Given the description of an element on the screen output the (x, y) to click on. 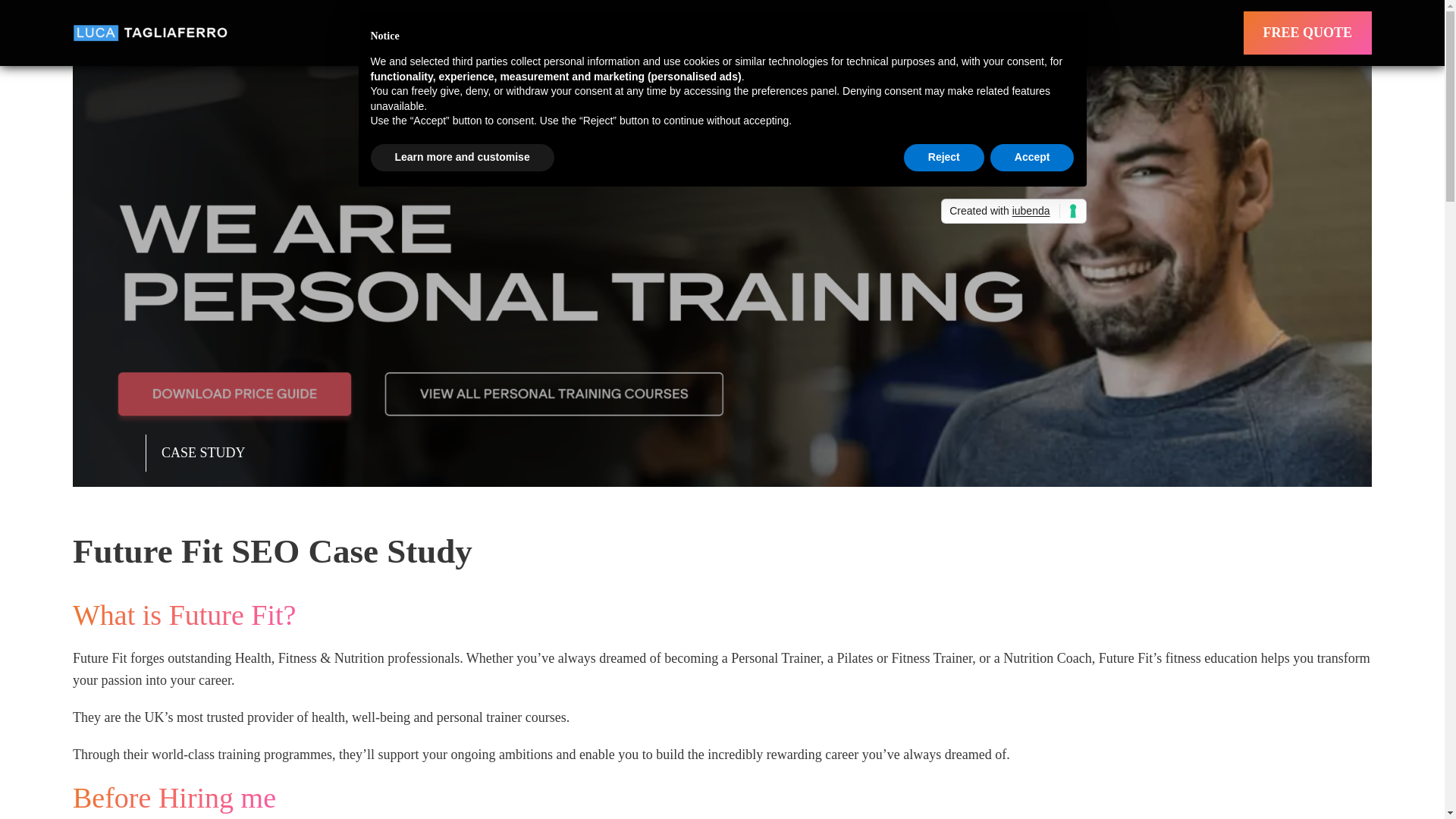
FREE QUOTE (1308, 32)
Learn more and customise (461, 157)
TOOLS (787, 32)
iubenda - Cookie Policy and Cookie Compliance Management (1013, 211)
Reject (944, 157)
RESULTS (721, 32)
Accept (1032, 157)
BLOG (854, 32)
ABOUT (912, 32)
WORK WITH ME ON SEO (586, 32)
